Given the description of an element on the screen output the (x, y) to click on. 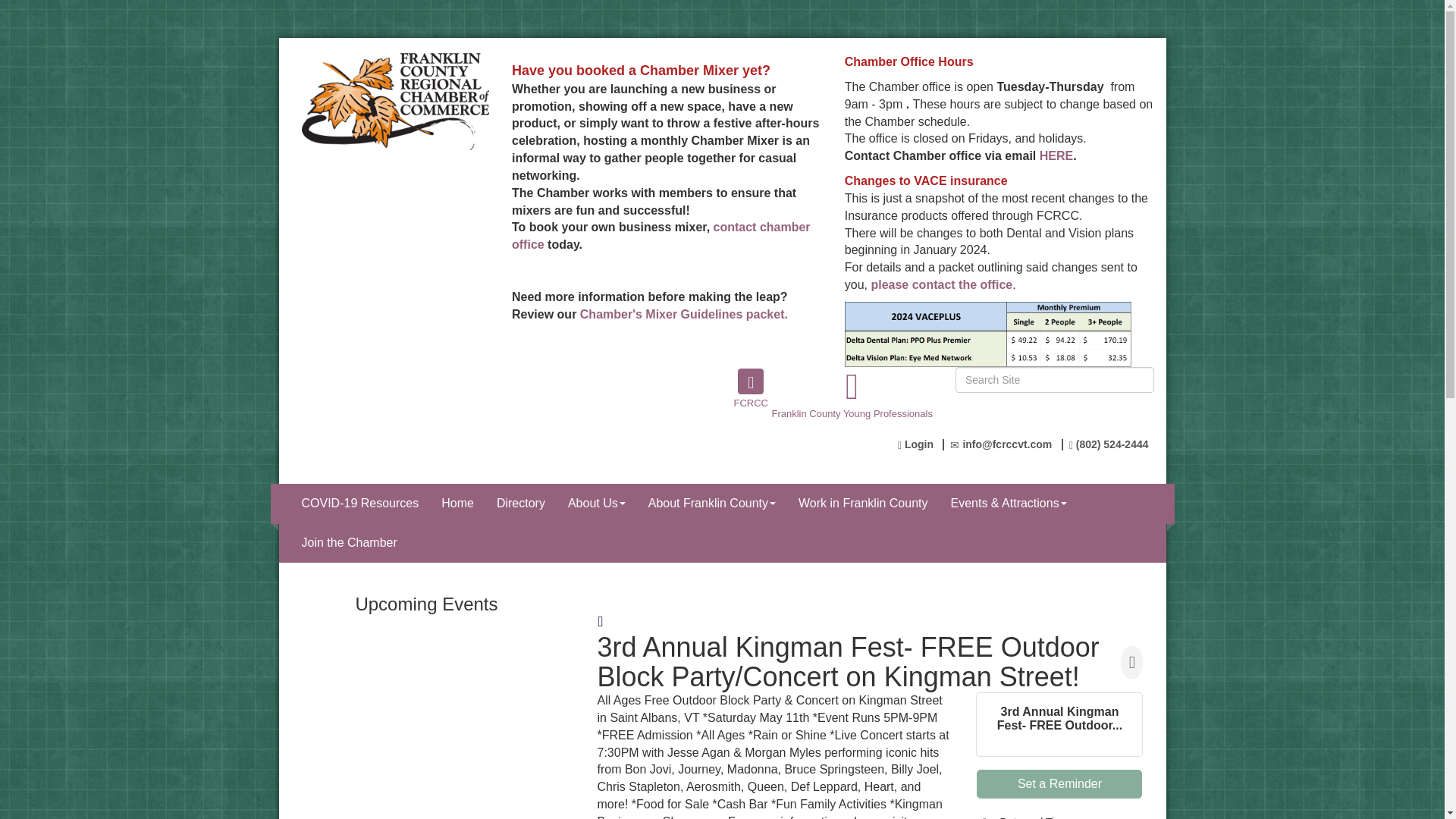
About Us (596, 503)
Franklin County Young Professionals (851, 393)
contact chamber office (661, 235)
HERE (1056, 155)
Work in Franklin County (863, 503)
Login (915, 444)
About Franklin County (712, 503)
FCRCC (750, 380)
Directory (520, 503)
Home (456, 503)
